Given the description of an element on the screen output the (x, y) to click on. 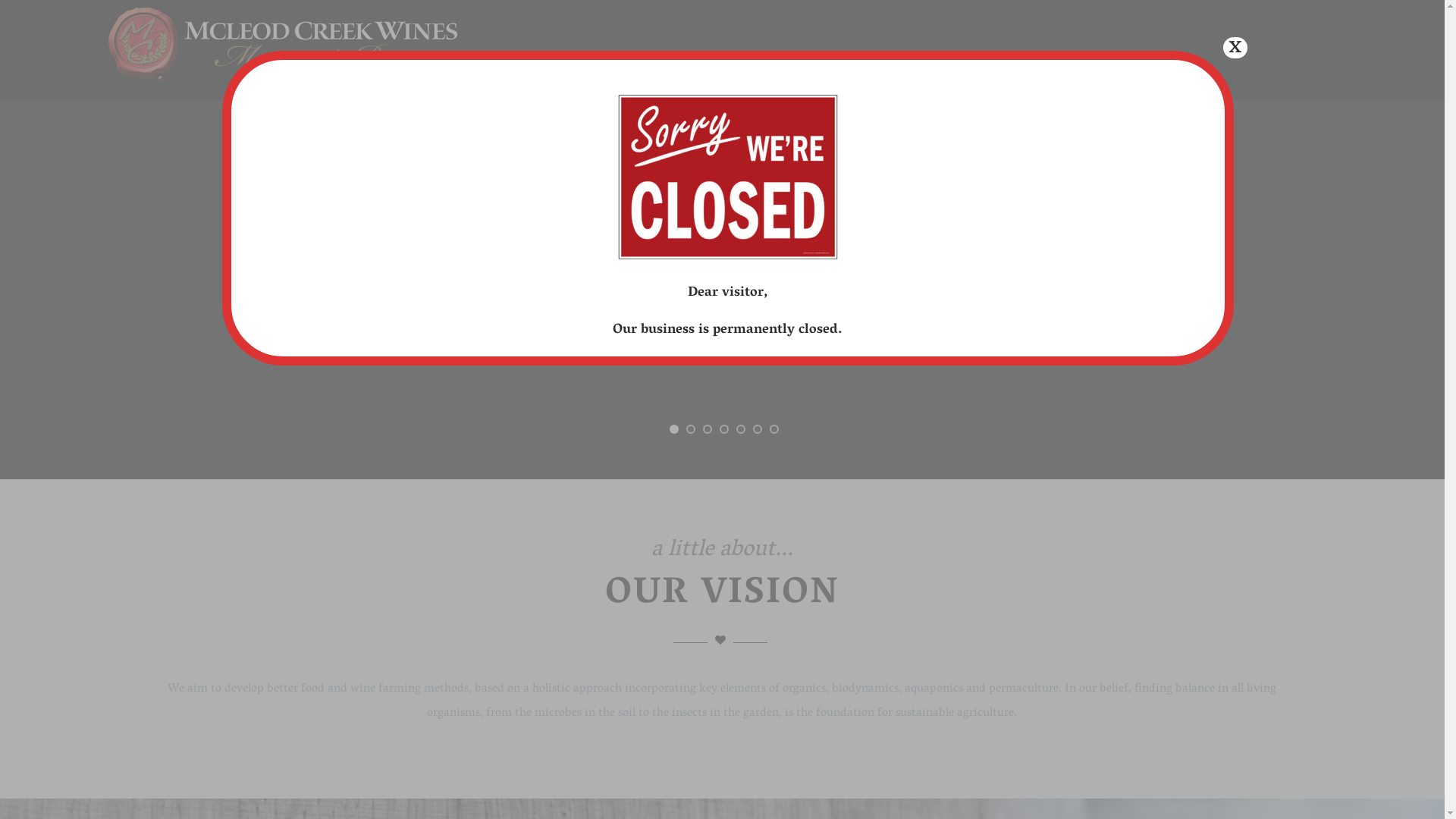
x Element type: text (1234, 47)
1 Element type: text (673, 428)
6 Element type: text (757, 428)
4 Element type: text (723, 428)
2 Element type: text (690, 428)
5 Element type: text (740, 428)
3 Element type: text (707, 428)
7 Element type: text (773, 428)
McLeod Creek Wines Element type: hover (282, 88)
